Given the description of an element on the screen output the (x, y) to click on. 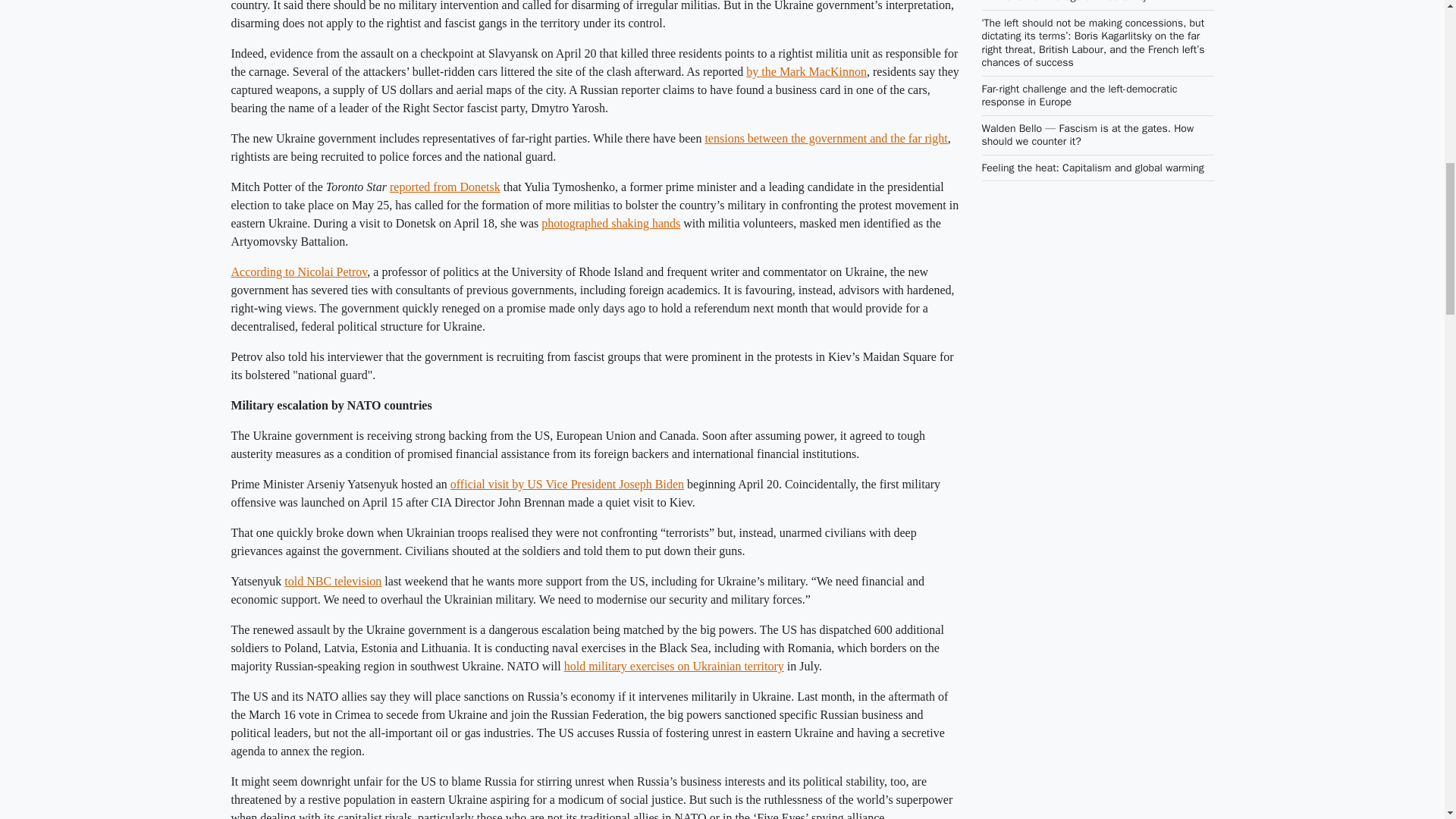
According to Nicolai Petrov (298, 271)
by the Mark MacKinnon (805, 71)
hold military exercises on Ukrainian territory (674, 666)
photographed shaking hands (610, 223)
told NBC television (332, 581)
reported from Donetsk (445, 186)
tensions between the government and the far right (825, 137)
official visit by US Vice President Joseph Biden (566, 483)
